Given the description of an element on the screen output the (x, y) to click on. 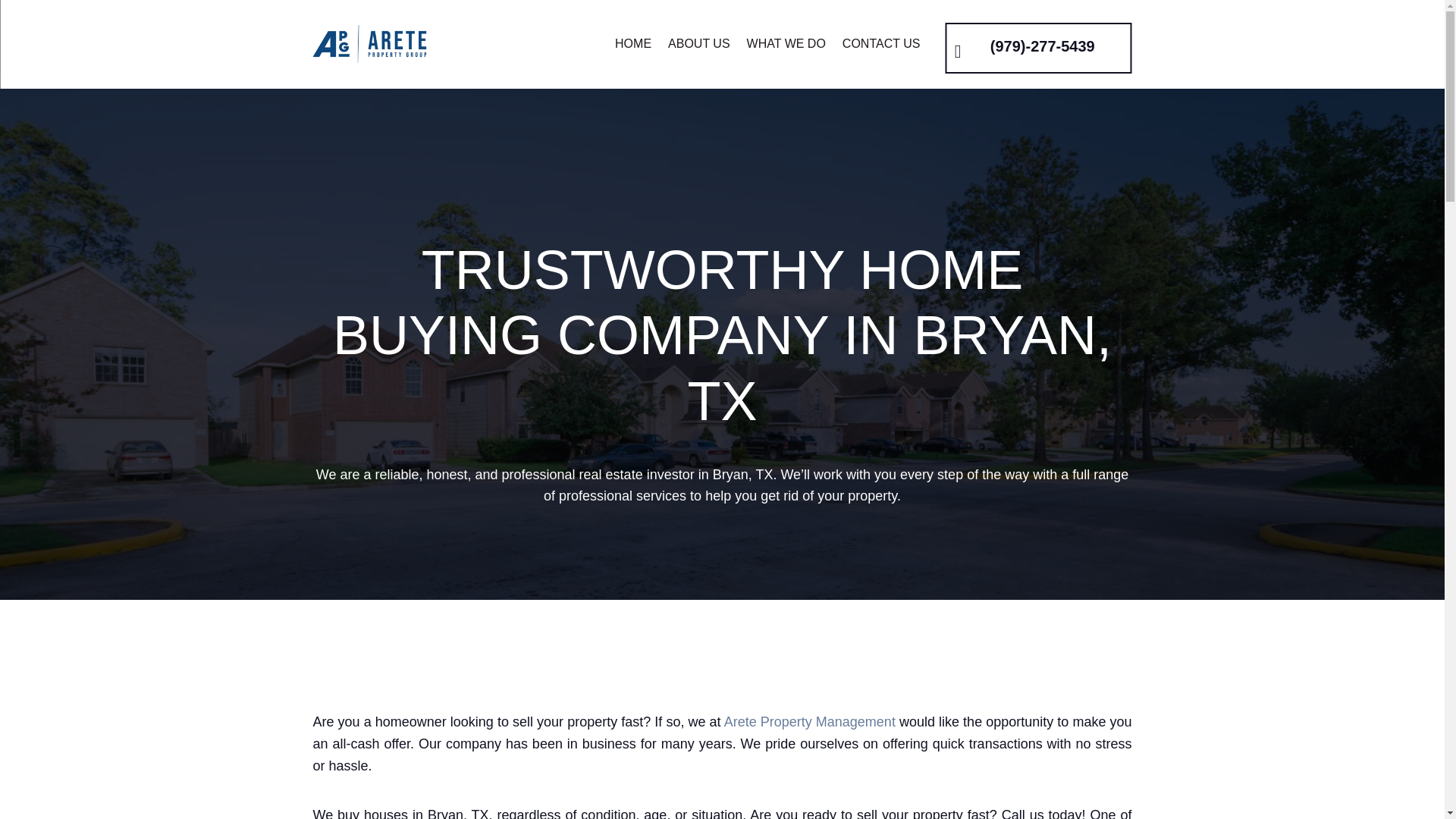
Page 1 (1056, 46)
ABOUT US (699, 43)
CONTACT US (881, 43)
WHAT WE DO (785, 43)
Arete Property Management (809, 712)
